Given the description of an element on the screen output the (x, y) to click on. 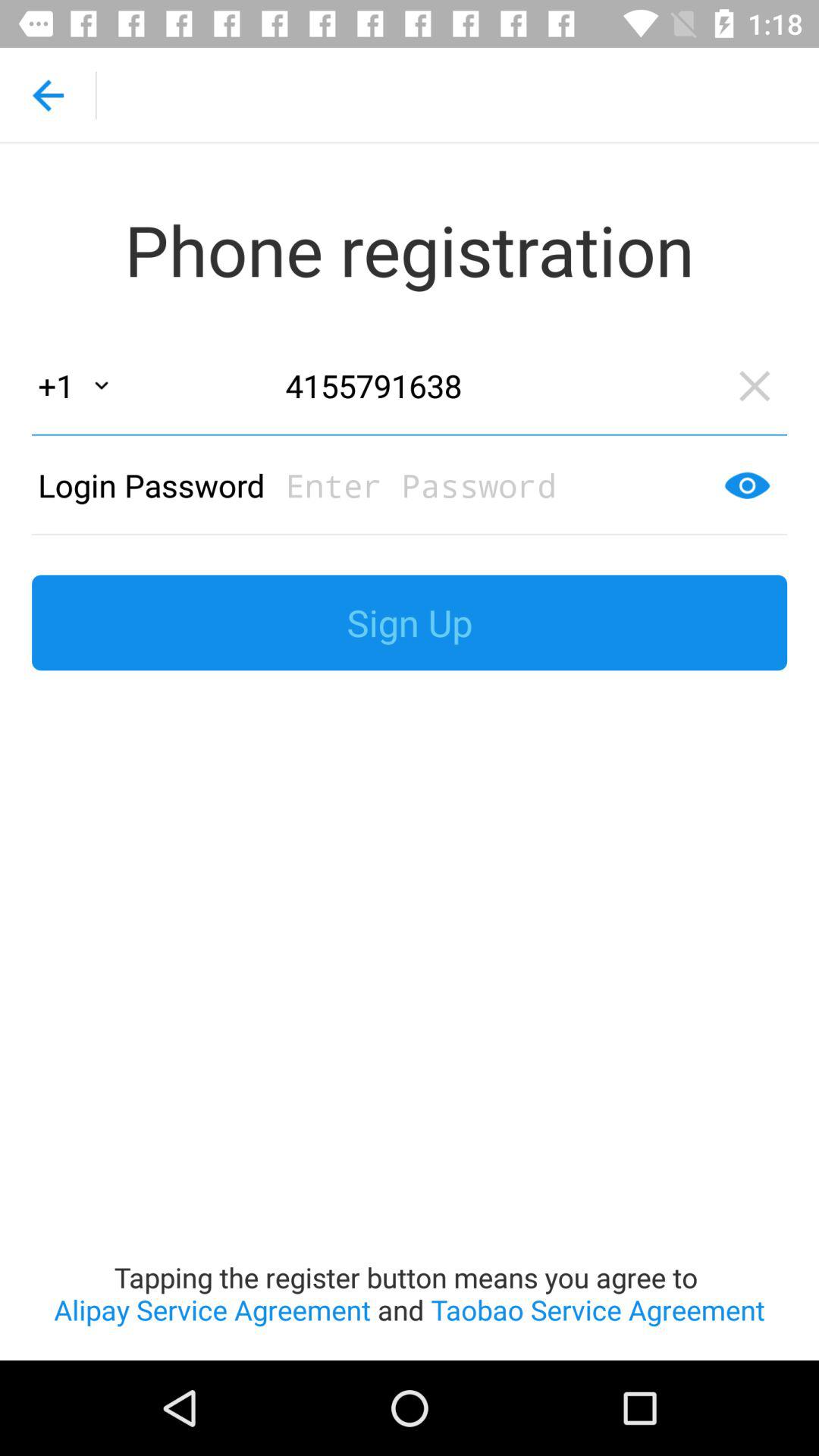
turn on the 4155791638 item (497, 385)
